Given the description of an element on the screen output the (x, y) to click on. 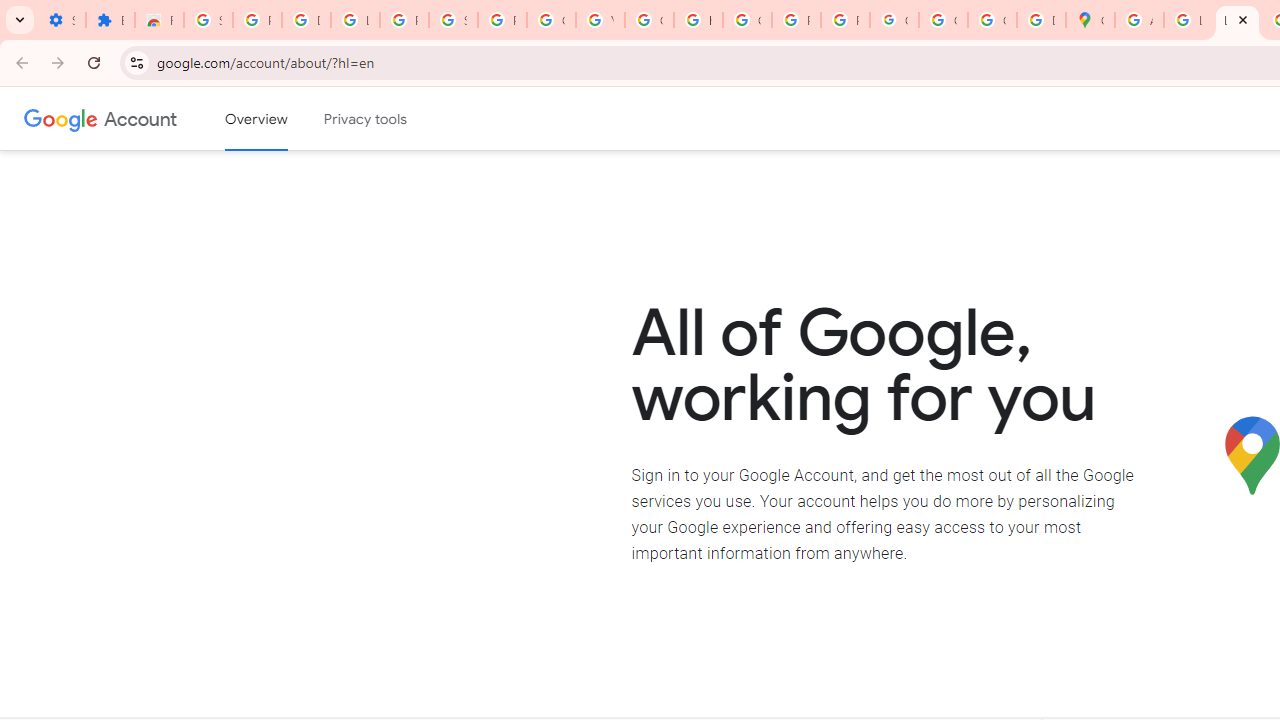
Settings - On startup (61, 20)
Google Maps (1090, 20)
Reviews: Helix Fruit Jump Arcade Game (159, 20)
Google Account (140, 118)
Sign in - Google Accounts (452, 20)
